Given the description of an element on the screen output the (x, y) to click on. 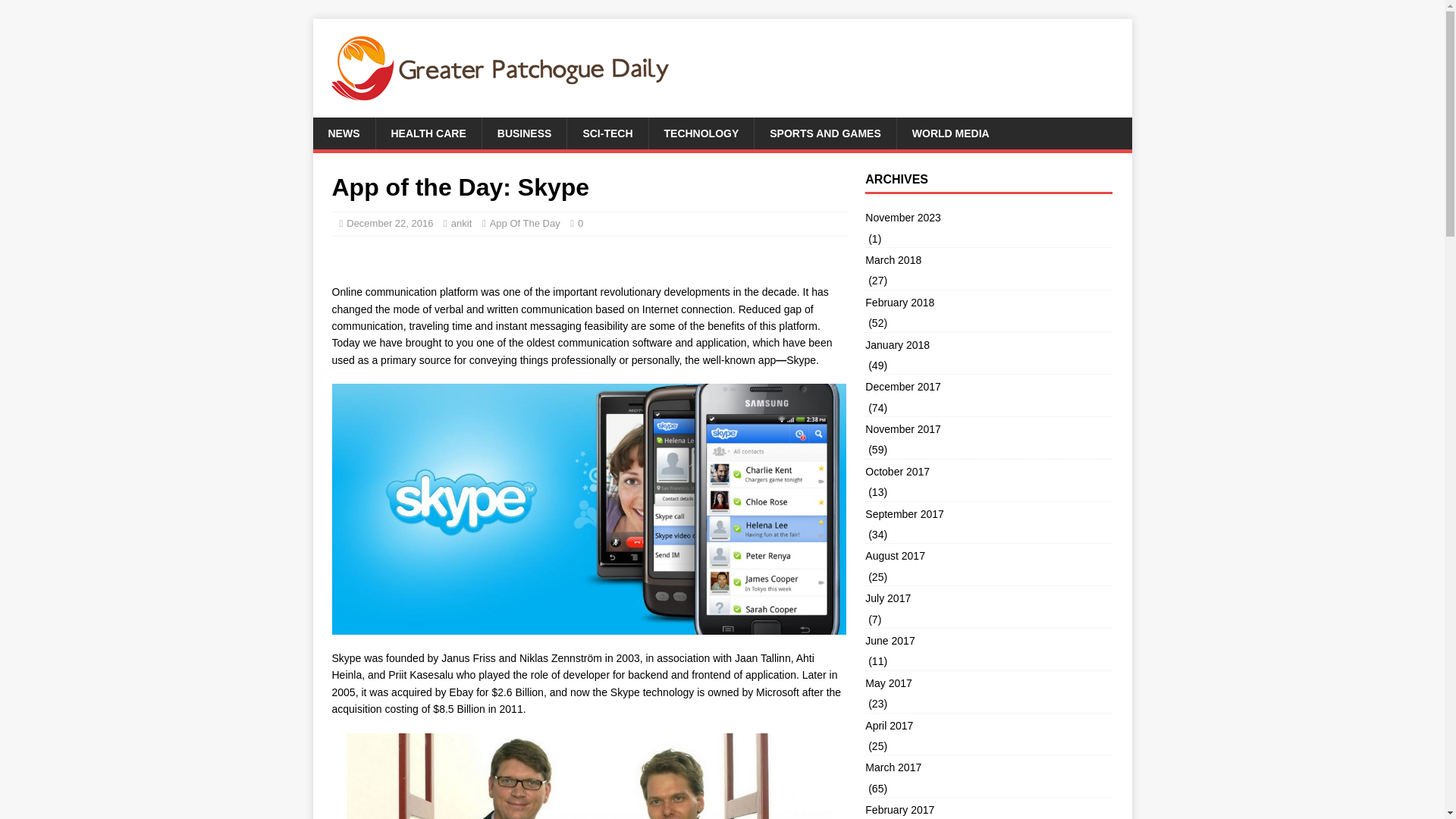
NEWS (343, 133)
SCI-TECH (606, 133)
December 22, 2016 (389, 223)
April 2017 (988, 725)
App Of The Day (524, 223)
February 2017 (988, 808)
November 2017 (988, 428)
December 2017 (988, 386)
July 2017 (988, 598)
TECHNOLOGY (700, 133)
HEALTH CARE (427, 133)
May 2017 (988, 682)
March 2017 (988, 767)
March 2018 (988, 259)
January 2018 (988, 344)
